Given the description of an element on the screen output the (x, y) to click on. 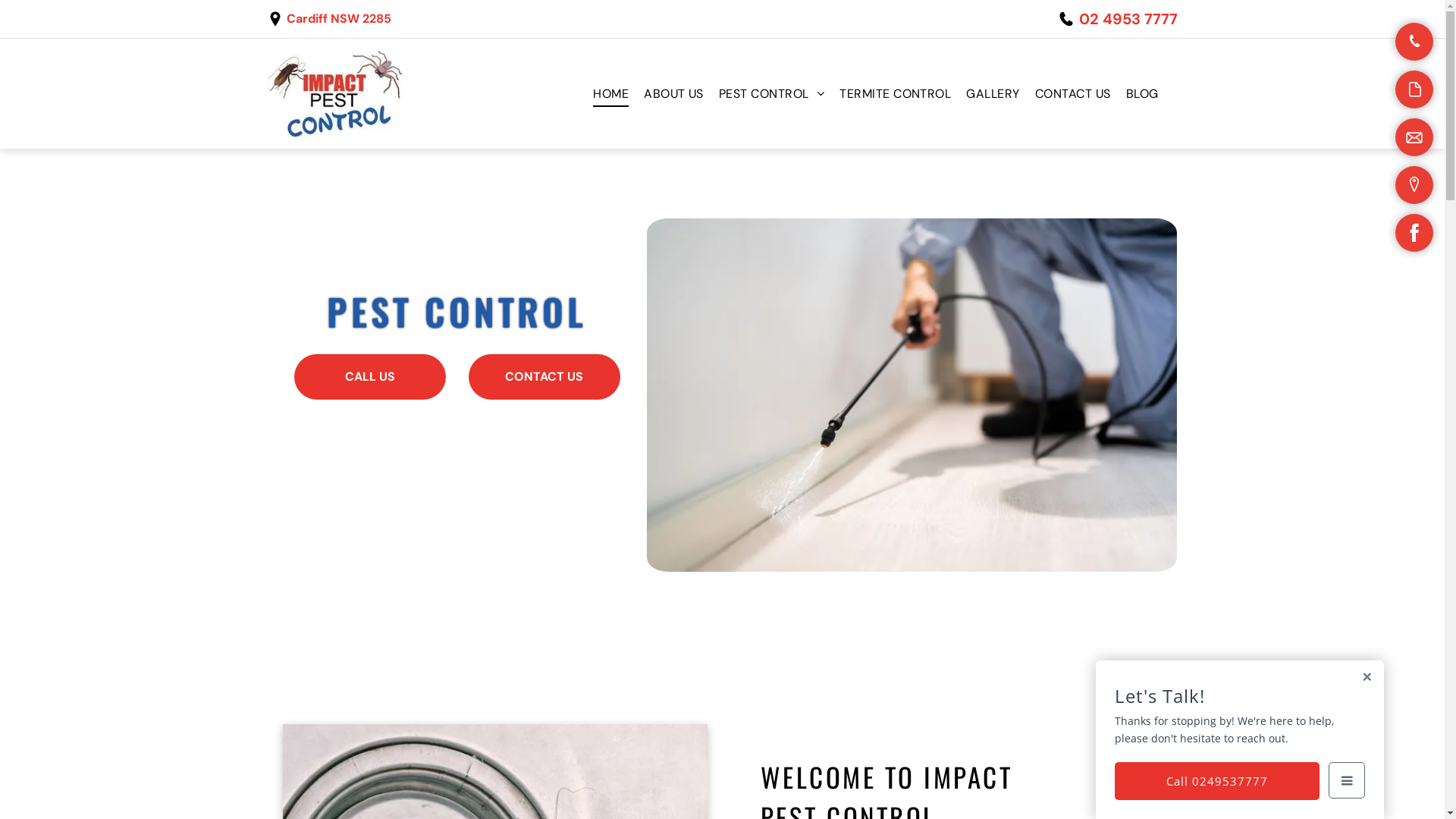
ABOUT US Element type: text (673, 93)
CONTACT US Element type: text (1072, 93)
BLOG Element type: text (1142, 93)
CONTACT US Element type: text (544, 376)
02 4953 7777 Element type: text (1127, 18)
GALLERY Element type: text (992, 93)
Call 0249537777 Element type: text (1216, 781)
TERMITE CONTROL Element type: text (894, 93)
HOME Element type: text (610, 93)
Impact Pest Control Element type: hover (333, 93)
PEST CONTROL Element type: text (771, 93)
Cardiff NSW 2285 Element type: text (338, 18)
CALL US Element type: text (369, 376)
